Given the description of an element on the screen output the (x, y) to click on. 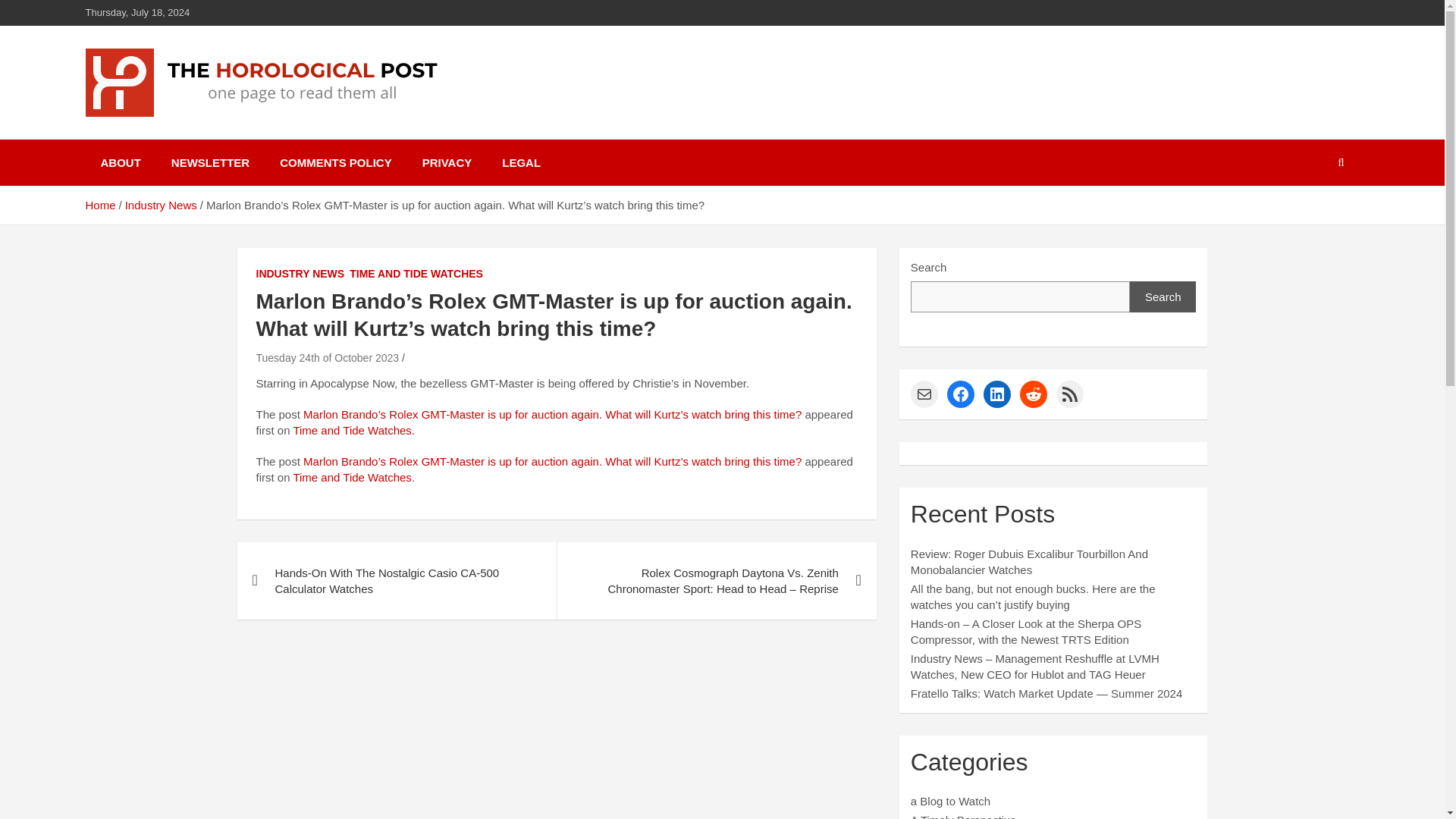
Time and Tide Watches (351, 477)
PRIVACY (447, 162)
Home (99, 205)
ABOUT (119, 162)
Facebook (960, 393)
Time and Tide Watches. (353, 430)
INDUSTRY NEWS (300, 273)
NEWSLETTER (209, 162)
Tuesday 24th of October 2023 (327, 357)
Industry News (160, 205)
a Blog to Watch (950, 800)
RSS Feed (1070, 393)
the Horological Post (232, 136)
Search (1162, 296)
